Given the description of an element on the screen output the (x, y) to click on. 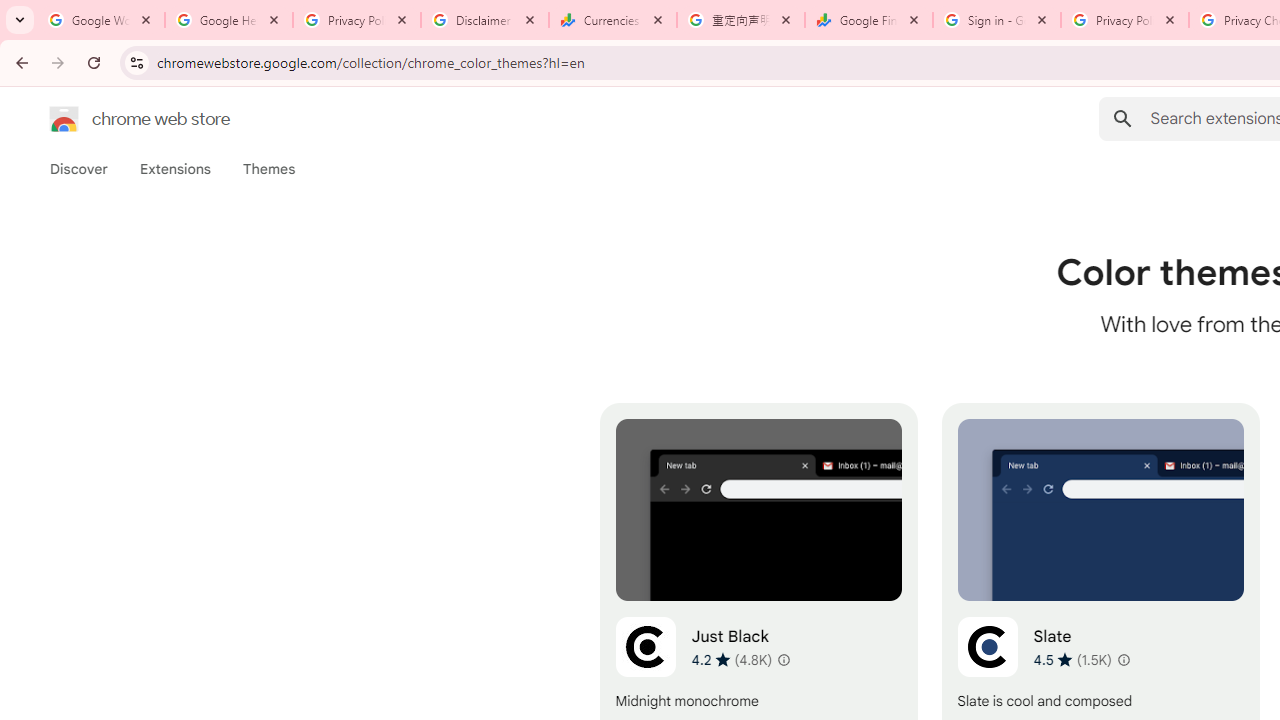
Themes (269, 169)
Discover (79, 169)
Extensions (174, 169)
Sign in - Google Accounts (997, 20)
Learn more about results and reviews "Just Black" (782, 659)
Average rating 4.5 out of 5 stars. 1.5K ratings. (1072, 659)
Currencies - Google Finance (613, 20)
Google Workspace Admin Community (101, 20)
